Given the description of an element on the screen output the (x, y) to click on. 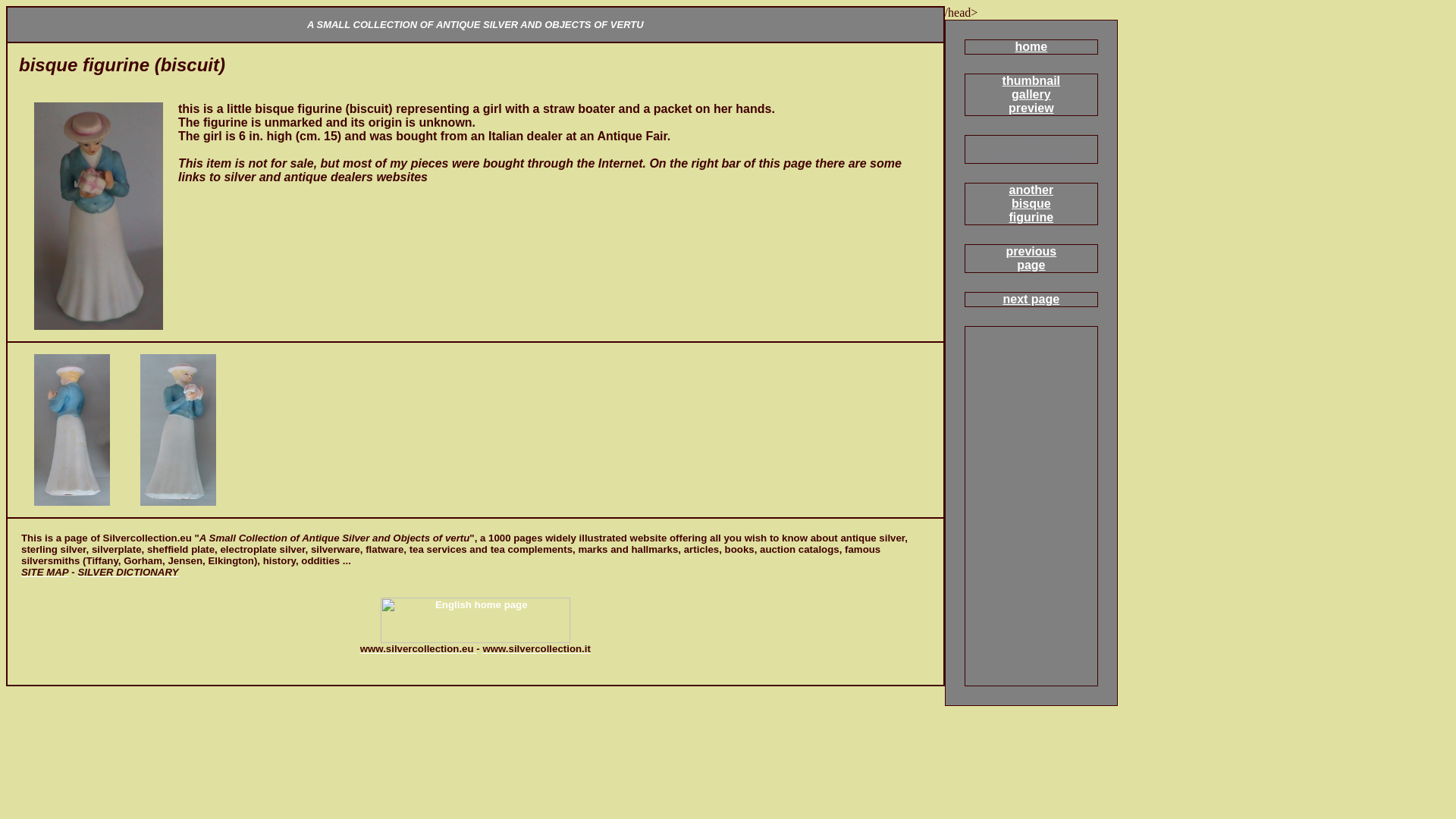
SILVER DICTIONARY (1031, 94)
www.silvercollection.it (127, 572)
next page (1030, 203)
SITE MAP (536, 648)
home (1031, 298)
Advertisement (185, 577)
www.silvercollection.eu (1030, 46)
Advertisement (1012, 569)
